Given the description of an element on the screen output the (x, y) to click on. 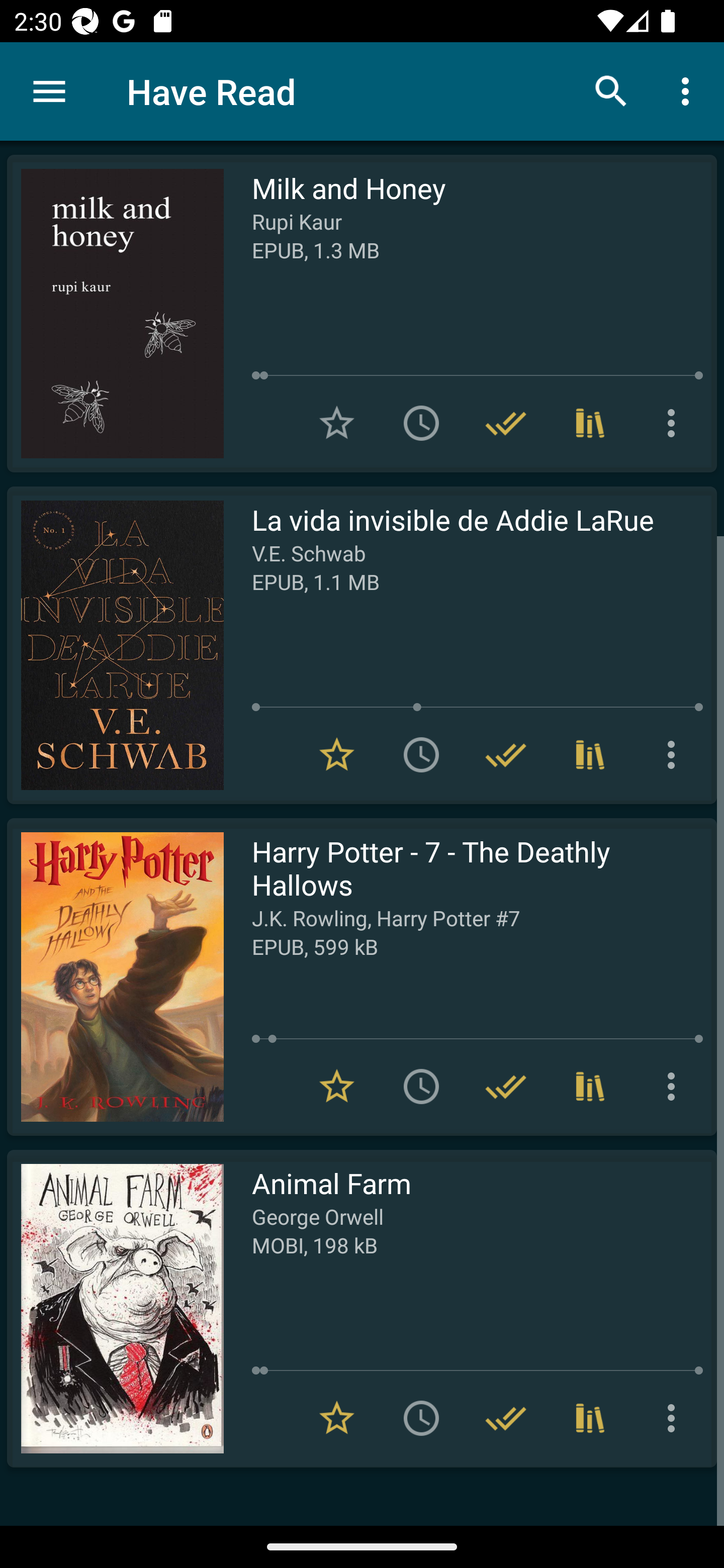
Menu (49, 91)
Search books & documents (611, 90)
More options (688, 90)
Read Milk and Honey (115, 313)
Add to Favorites (336, 423)
Add to To read (421, 423)
Remove from Have read (505, 423)
Collections (4) (590, 423)
More options (674, 423)
Read La vida invisible de Addie LaRue (115, 645)
Remove from Favorites (336, 753)
Add to To read (421, 753)
Remove from Have read (505, 753)
Collections (1) (590, 753)
More options (674, 753)
Read Harry Potter - 7 - The Deathly Hallows (115, 976)
Remove from Favorites (336, 1086)
Add to To read (421, 1086)
Remove from Have read (505, 1086)
Collections (3) (590, 1086)
More options (674, 1086)
Read Animal Farm (115, 1308)
Remove from Favorites (336, 1417)
Add to To read (421, 1417)
Remove from Have read (505, 1417)
Collections (2) (590, 1417)
More options (674, 1417)
